Given the description of an element on the screen output the (x, y) to click on. 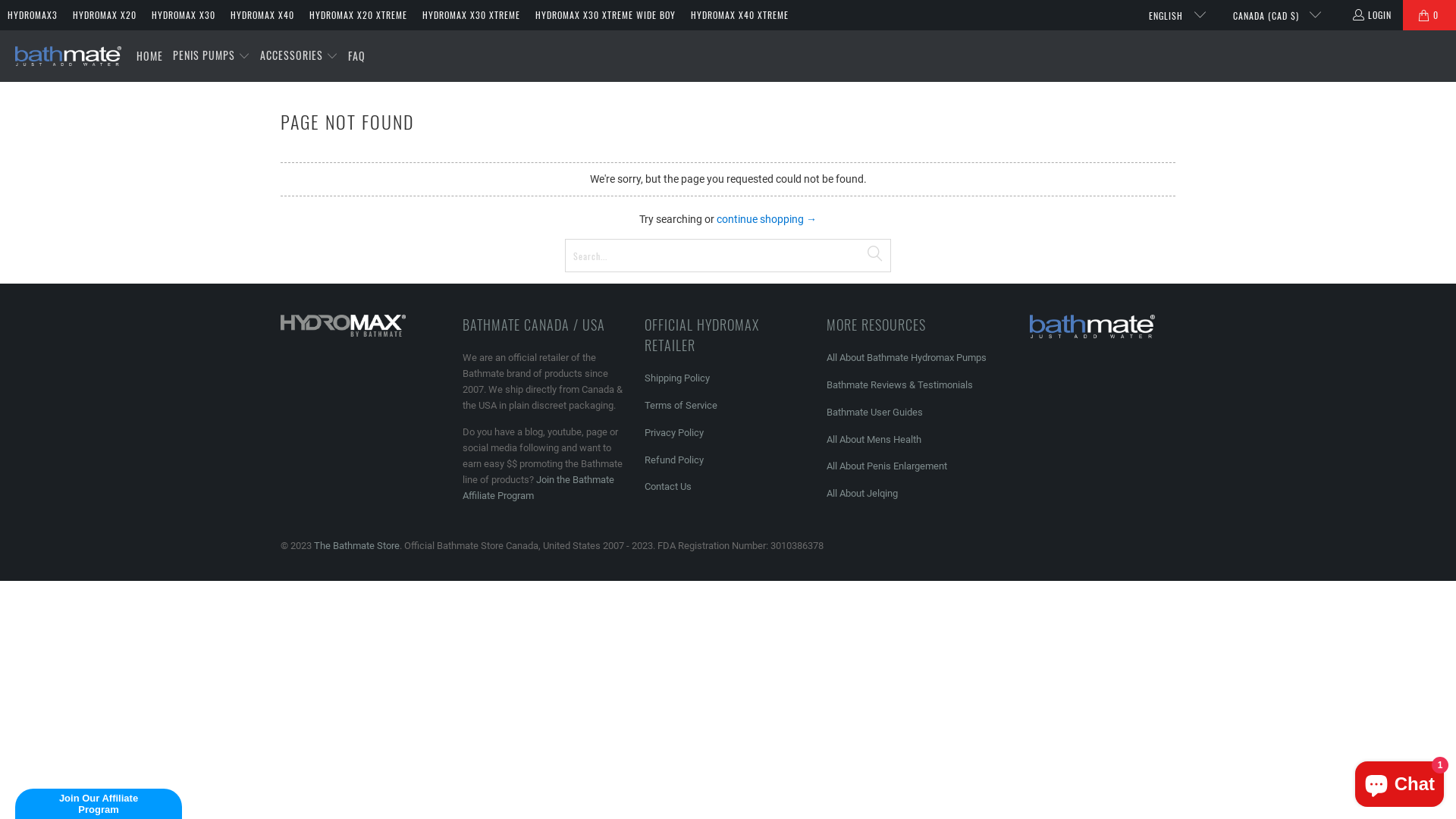
HOME Element type: text (149, 55)
HYDROMAX X20 XTREME Element type: text (358, 14)
Privacy Policy Element type: text (673, 432)
LOGIN Element type: text (1371, 14)
HYDROMAX X40 Element type: text (262, 14)
Bathmate Reviews & Testimonials Element type: text (899, 384)
Join the Bathmate Affiliate Program Element type: text (538, 487)
FAQ Element type: text (356, 55)
Terms of Service Element type: text (680, 405)
HYDROMAX X40 XTREME Element type: text (739, 14)
HYDROMAX X30 Element type: text (183, 14)
Refund Policy Element type: text (673, 459)
HYDROMAX X30 XTREME WIDE BOY Element type: text (605, 14)
HYDROMAX X30 XTREME Element type: text (471, 14)
All About Bathmate Hydromax Pumps Element type: text (906, 357)
All About Mens Health Element type: text (873, 439)
Contact Us Element type: text (667, 486)
Shipping Policy Element type: text (676, 377)
Shopify online store chat Element type: hover (1399, 780)
CANADA (CAD $) Element type: text (1270, 15)
HYDROMAX X20 Element type: text (104, 14)
Bathmate User Guides Element type: text (874, 411)
All About Penis Enlargement Element type: text (886, 465)
All About Jelqing Element type: text (861, 492)
HYDROMAX3 Element type: text (32, 14)
The Bathmate Store Element type: hover (68, 56)
ENGLISH Element type: text (1170, 15)
The Bathmate Store Element type: text (356, 545)
